Given the description of an element on the screen output the (x, y) to click on. 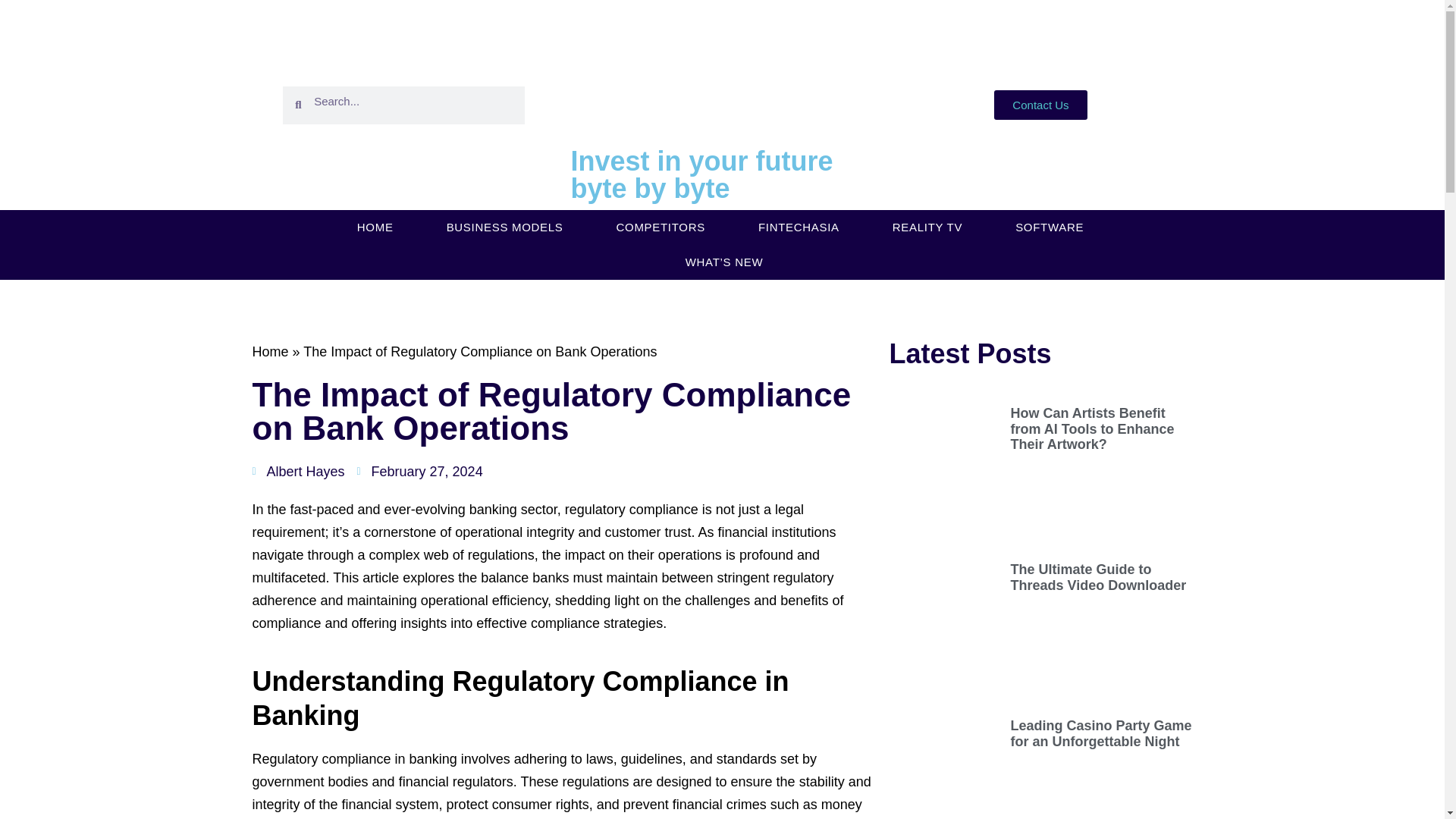
Albert Hayes (297, 471)
HOME (375, 226)
FINTECHASIA (798, 226)
COMPETITORS (659, 226)
Home (269, 351)
Contact Us (1040, 104)
REALITY TV (927, 226)
SOFTWARE (1049, 226)
February 27, 2024 (419, 471)
BUSINESS MODELS (504, 226)
